Given the description of an element on the screen output the (x, y) to click on. 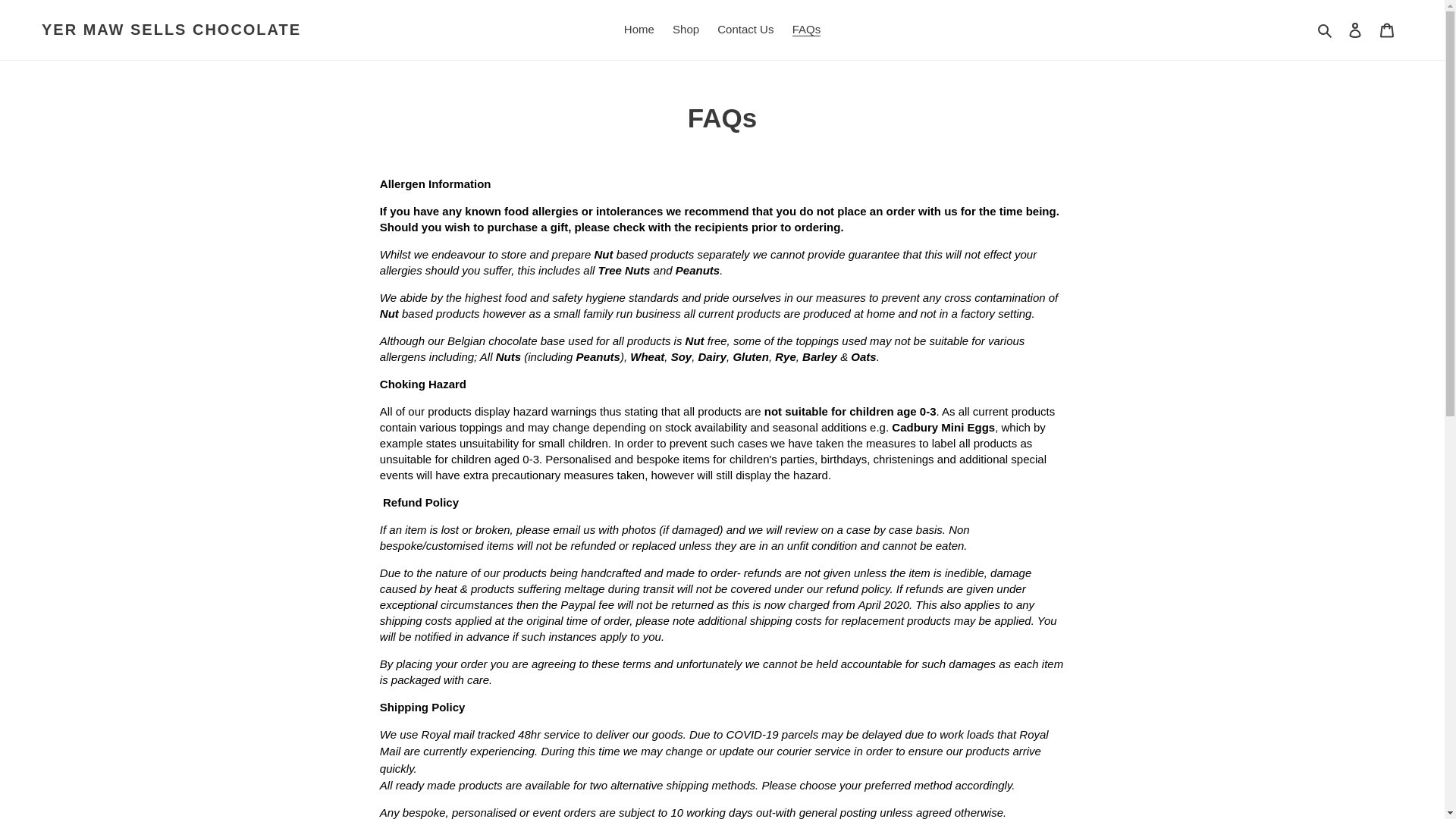
Search (1326, 29)
Cart (1387, 29)
Home (638, 29)
Shop (685, 29)
Contact Us (745, 29)
FAQs (806, 29)
Log in (1355, 29)
YER MAW SELLS CHOCOLATE (171, 29)
